Given the description of an element on the screen output the (x, y) to click on. 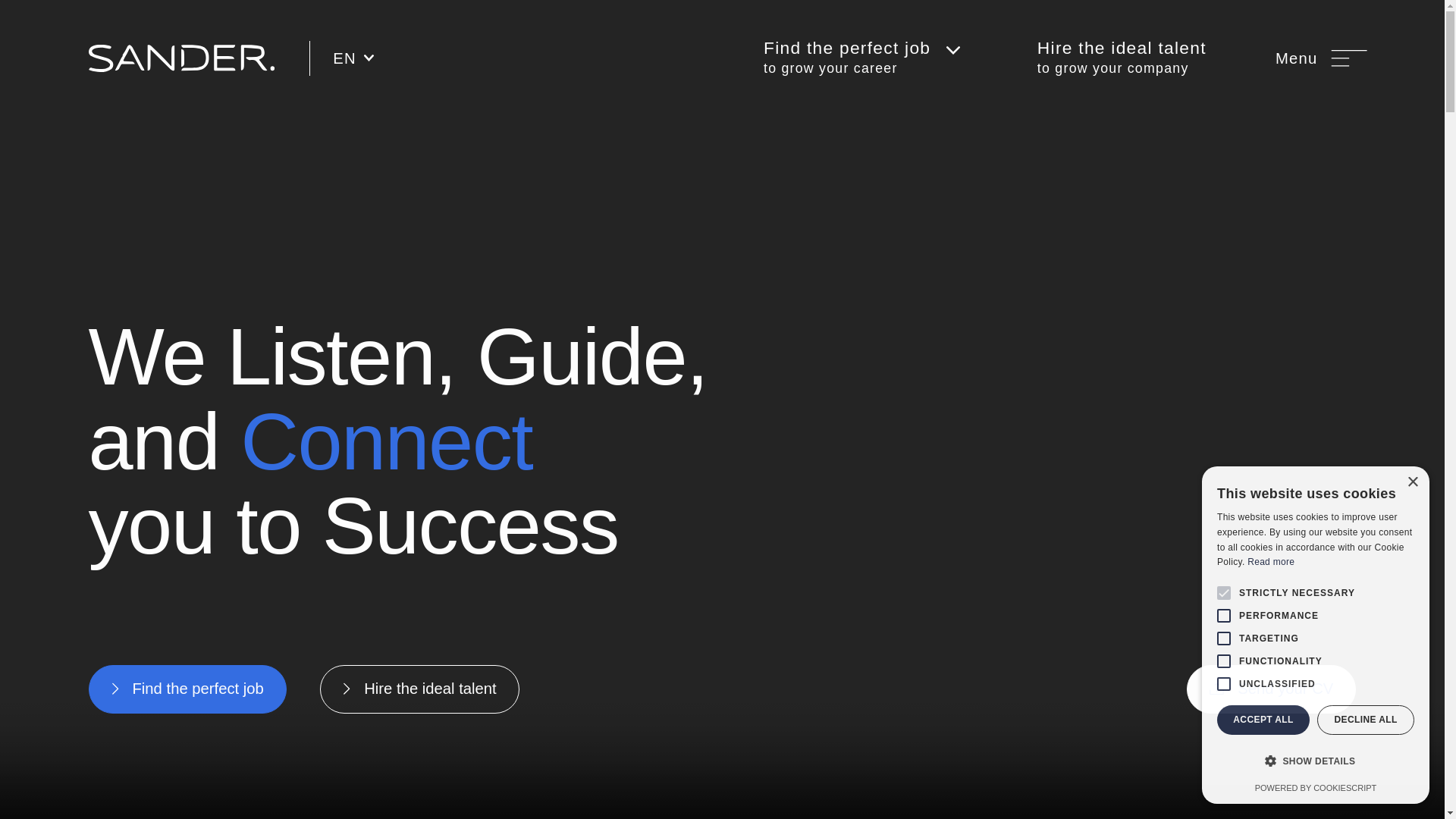
EN (353, 58)
Hire the ideal talent (419, 689)
Find the perfect job (187, 689)
Consent Management Platform (1121, 58)
Menu (1316, 787)
Send your CV (1321, 58)
